Given the description of an element on the screen output the (x, y) to click on. 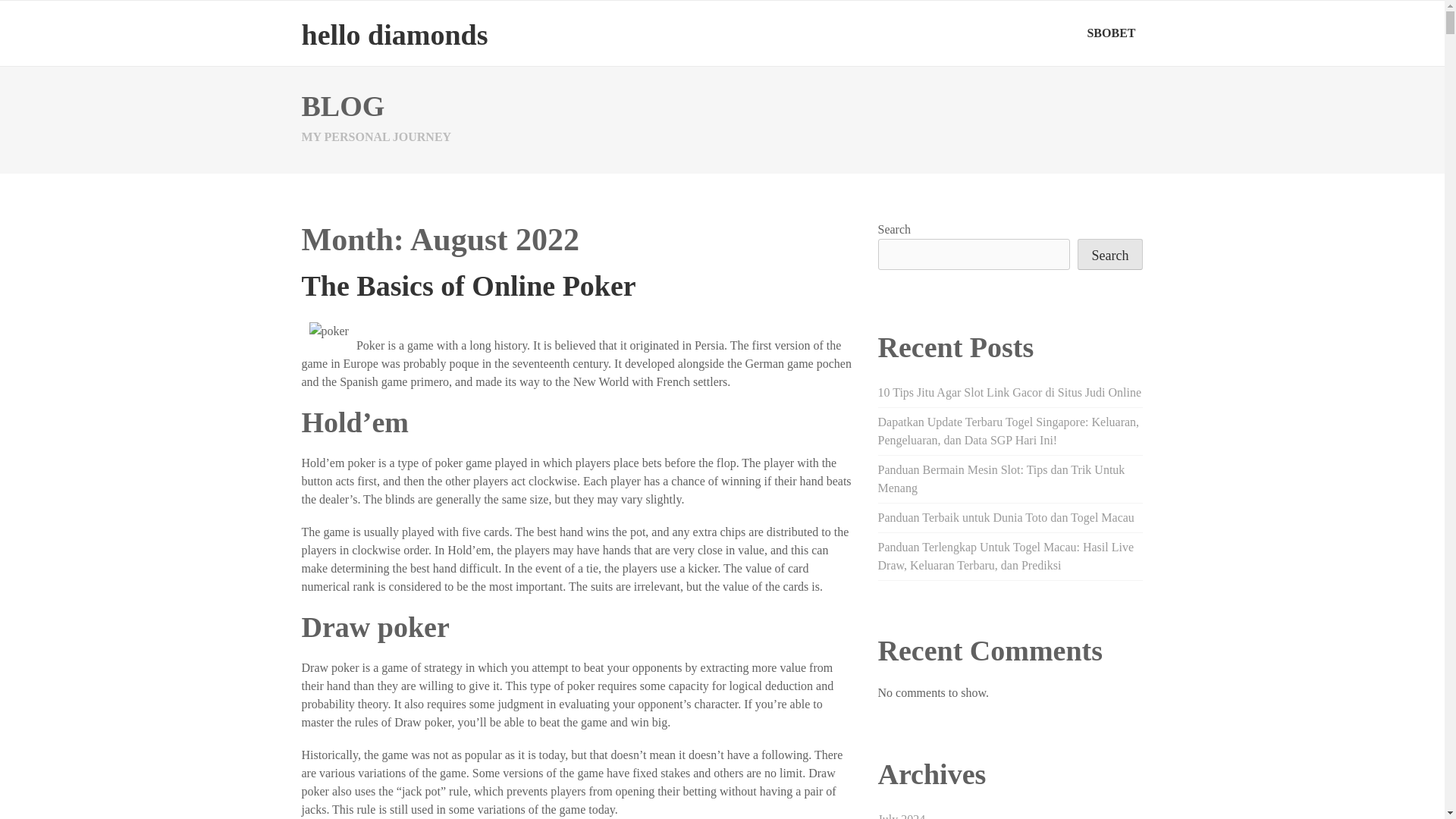
hello diamonds (394, 34)
SBOBET (1110, 33)
The Basics of Online Poker (468, 286)
